Given the description of an element on the screen output the (x, y) to click on. 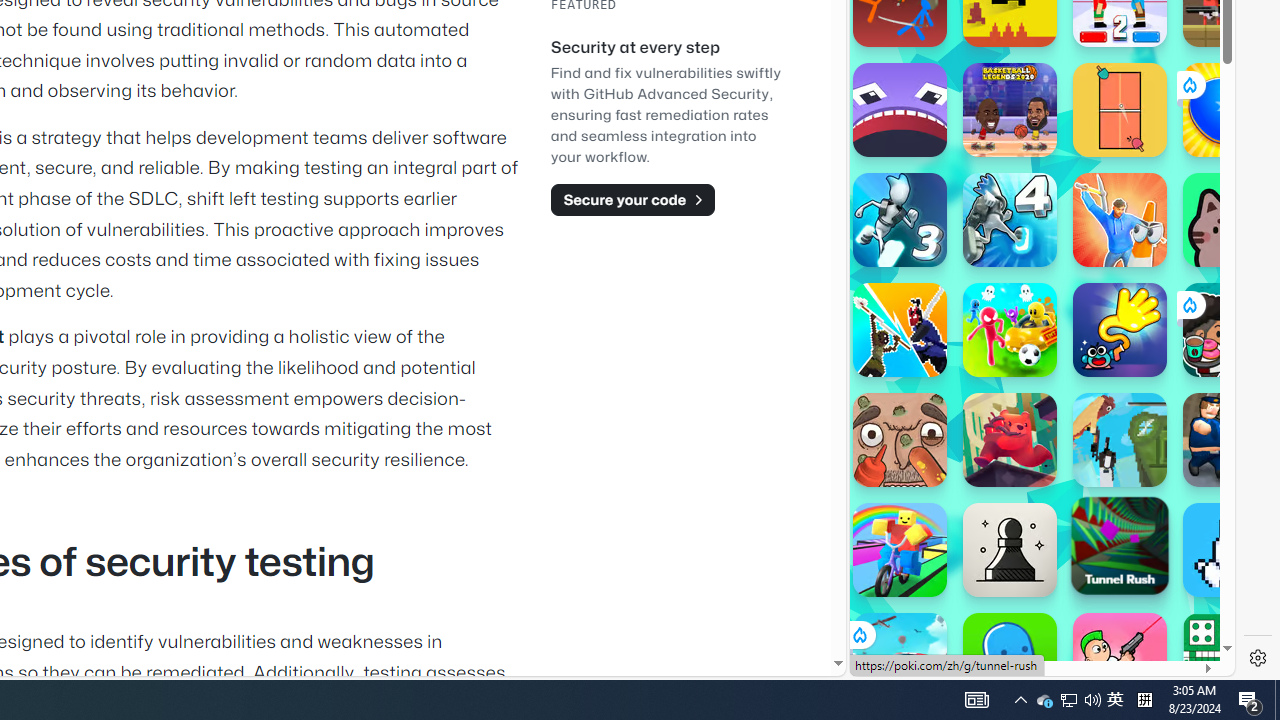
Classic Chess Classic Chess (1009, 549)
Poor Bunny Poor Bunny (1229, 549)
Stickman Crazy Box Stickman Crazy Box (1009, 329)
Class: rCs5cyEiqiTpYvt_VBCR (858, 634)
Stunt Paradise (899, 659)
Shady Bears (1009, 439)
Shady Bears Shady Bears (1009, 439)
Hills of Steel (925, 290)
Getaway Shootout Getaway Shootout (1119, 439)
Tunnel Rush (1119, 545)
Stunt Paradise Stunt Paradise (899, 659)
Ludo Multiplayer Ludo Multiplayer (1229, 659)
Ping Pong Go! Ping Pong Go! (1229, 109)
G-Switch 4 (1009, 219)
